Given the description of an element on the screen output the (x, y) to click on. 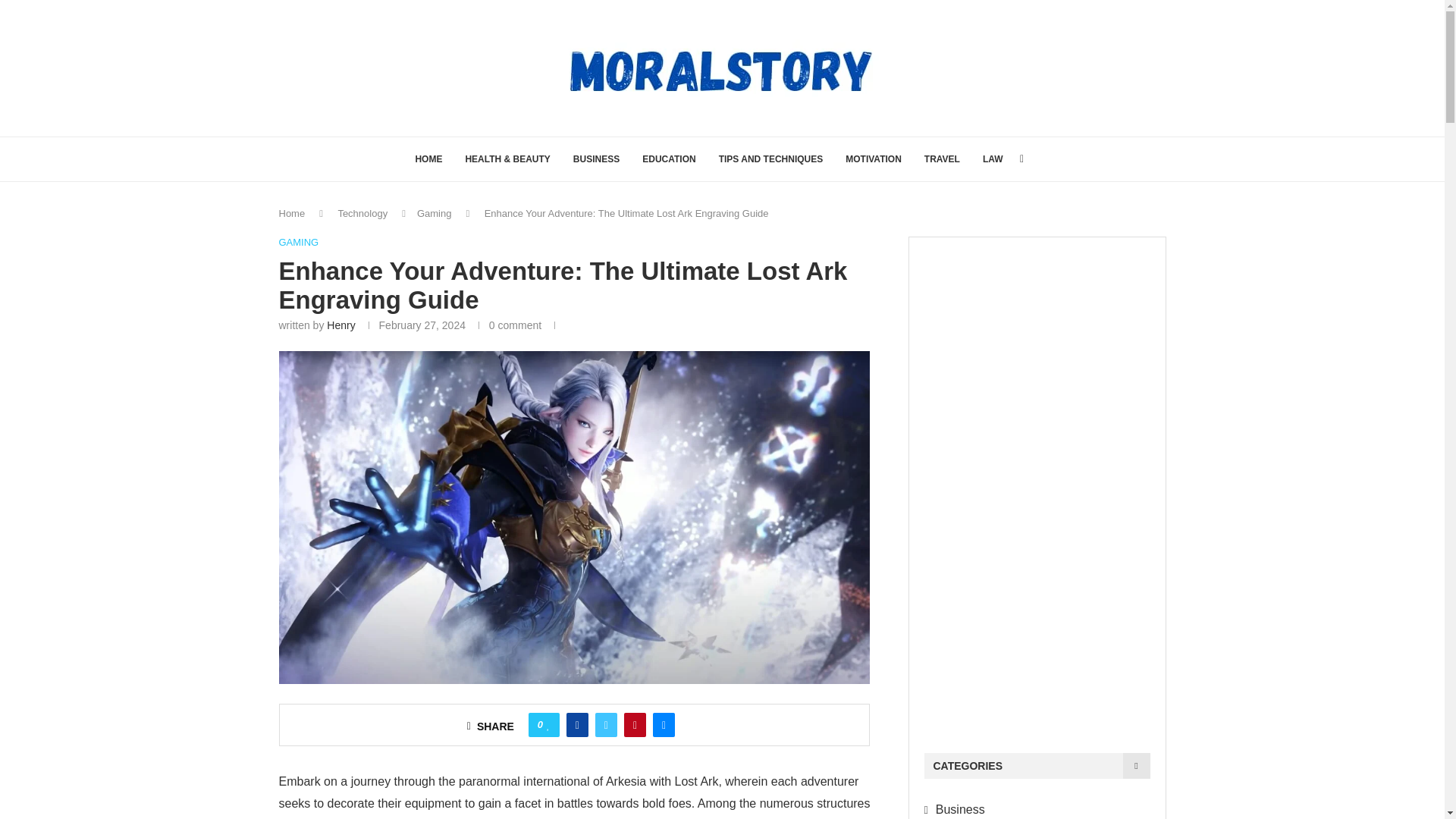
Home (292, 213)
Technology (362, 213)
TIPS AND TECHNIQUES (771, 158)
Henry (340, 325)
Gaming (433, 213)
MOTIVATION (873, 158)
GAMING (298, 242)
BUSINESS (596, 158)
EDUCATION (668, 158)
